Given the description of an element on the screen output the (x, y) to click on. 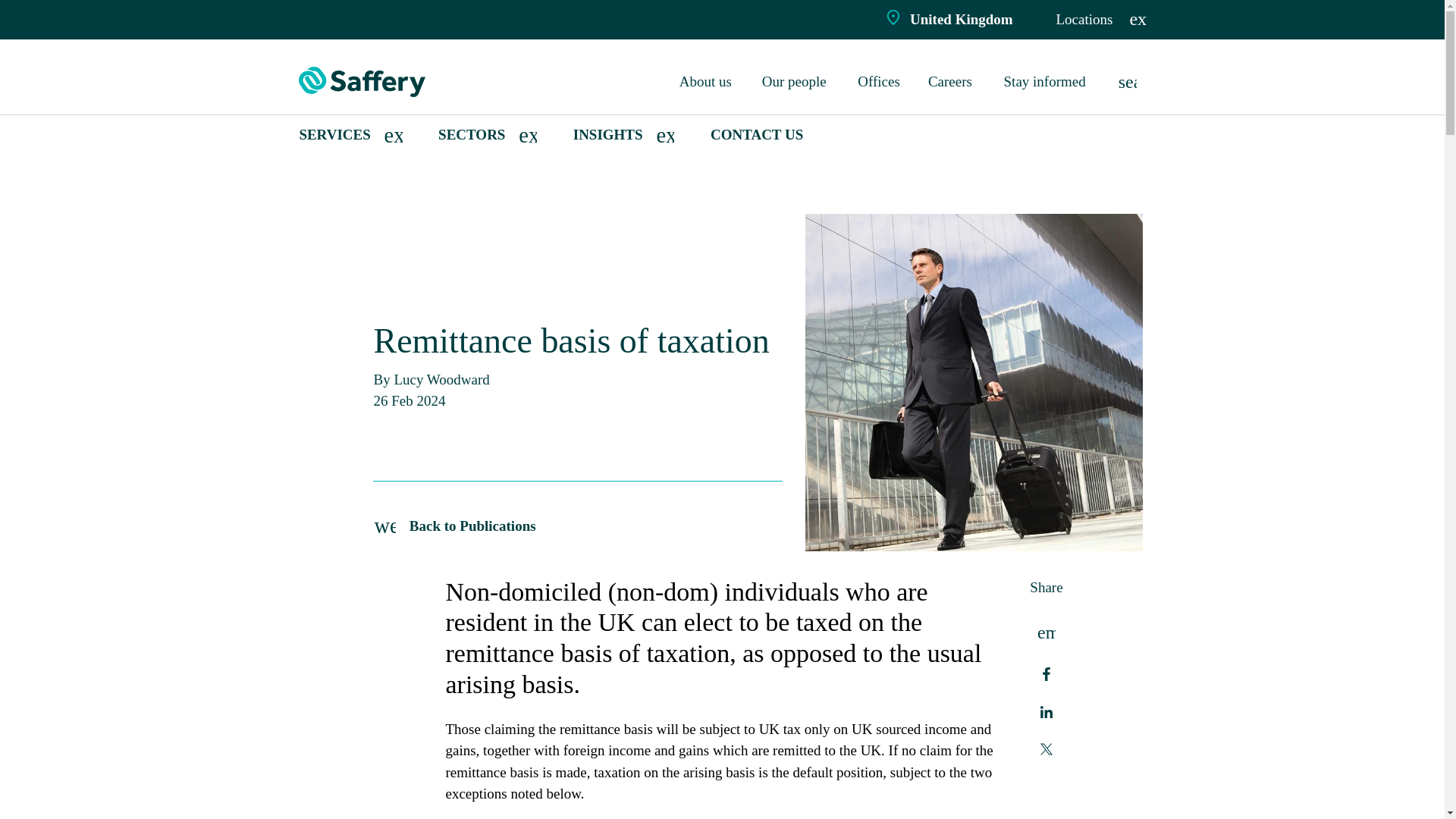
CONTACT US (756, 134)
Stay informed (1047, 82)
Remittance basis of taxation (486, 184)
Our people (796, 82)
About us (706, 82)
Careers (951, 82)
Offices (879, 82)
